Given the description of an element on the screen output the (x, y) to click on. 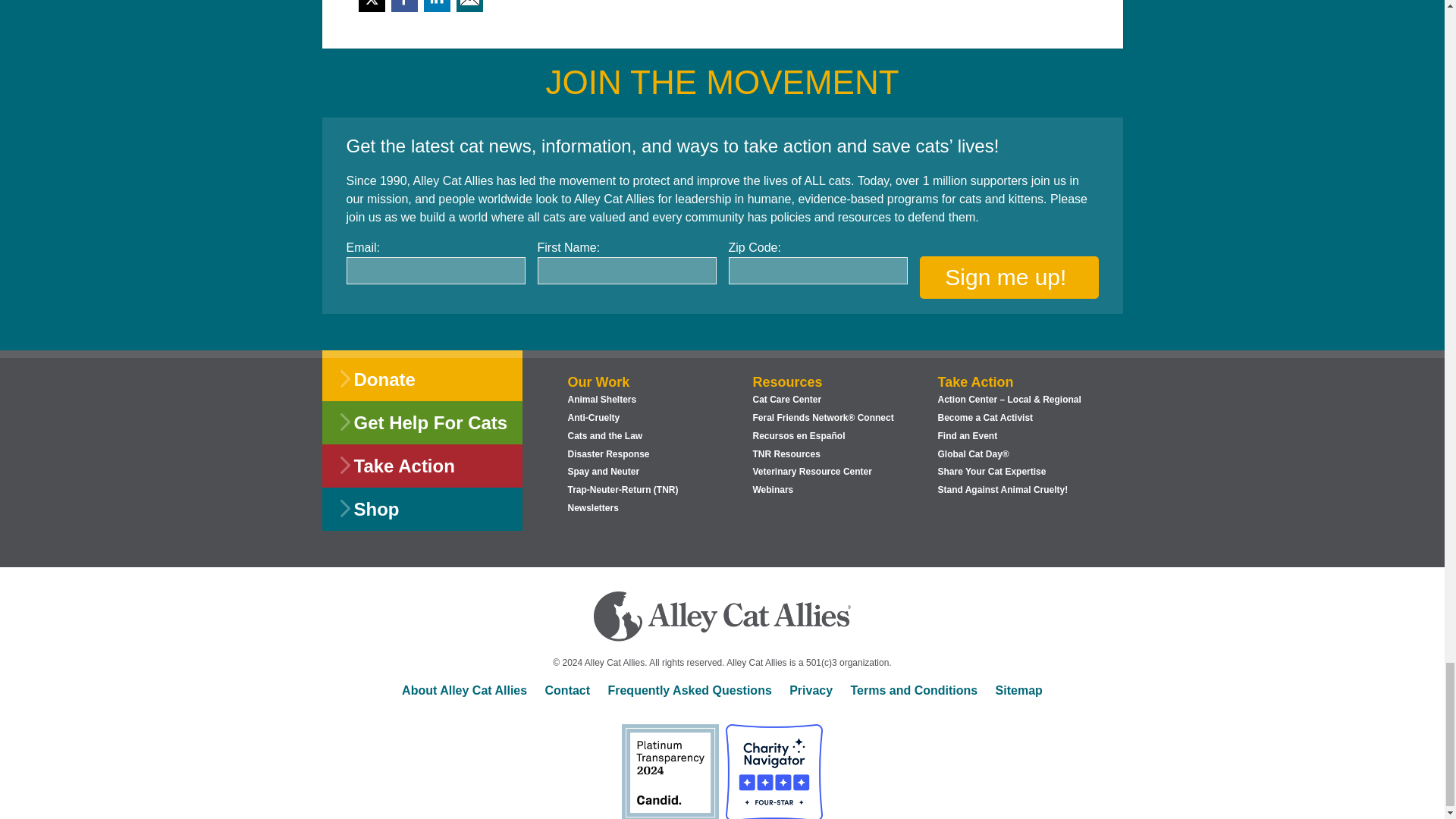
Sign me up!  (1007, 277)
